Given the description of an element on the screen output the (x, y) to click on. 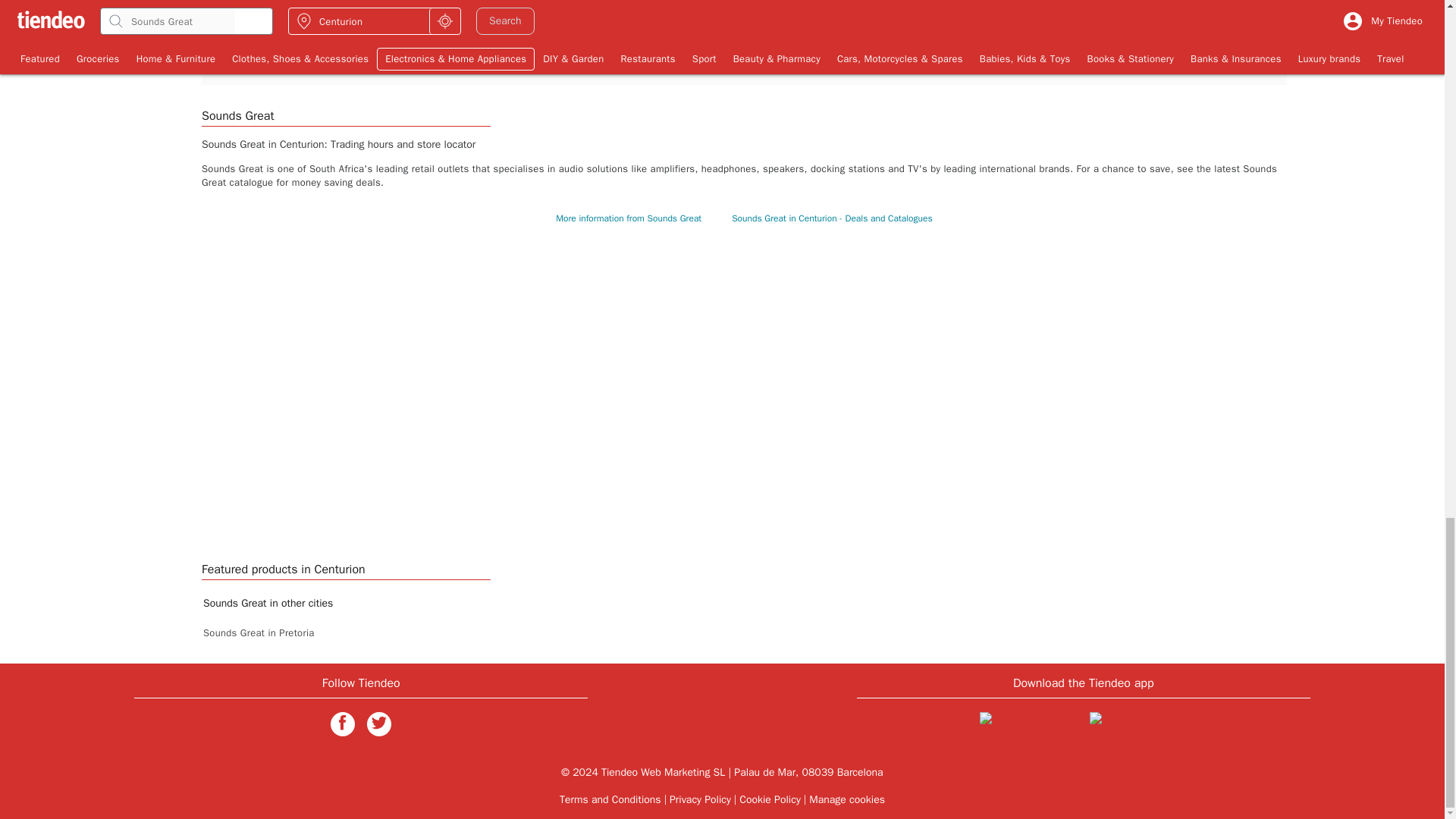
iOS App (1028, 726)
twitter (378, 722)
Android App (1138, 726)
facebook (342, 722)
facebook (342, 723)
twitter (378, 723)
